Given the description of an element on the screen output the (x, y) to click on. 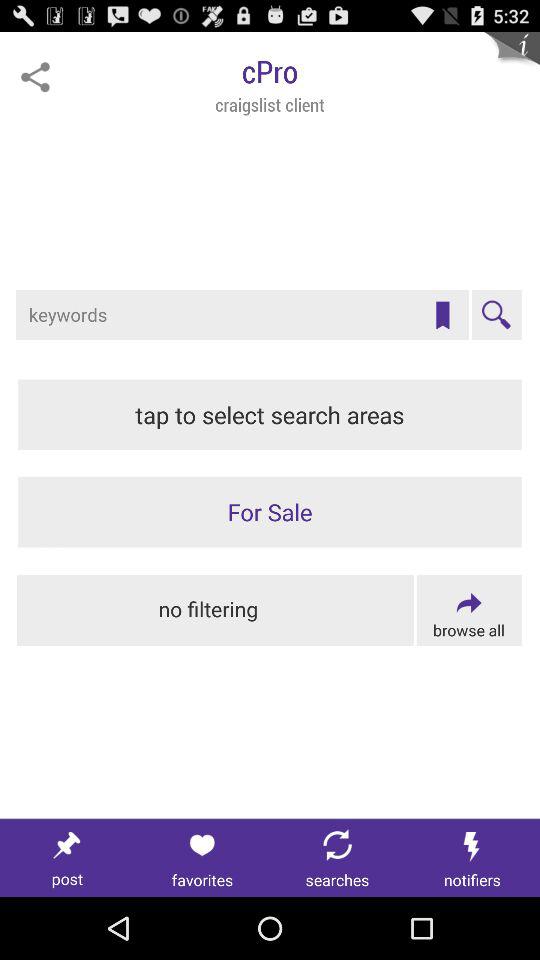
change notifications (472, 858)
